Given the description of an element on the screen output the (x, y) to click on. 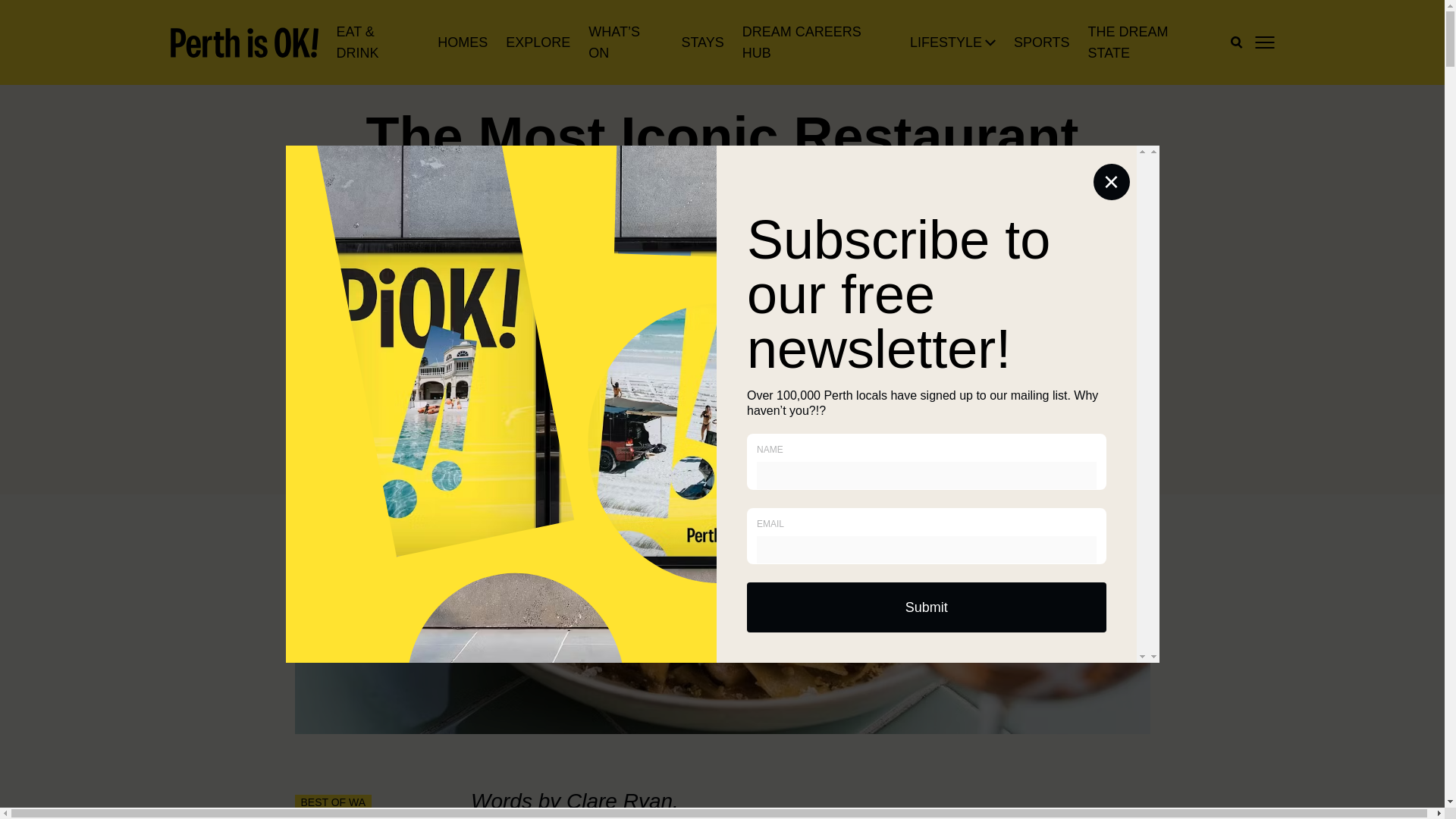
Submit (926, 607)
HOMES (462, 42)
DREAM CAREERS HUB (816, 42)
SPORTS (1041, 42)
EXPLORE (537, 42)
STAYS (702, 42)
THE DREAM STATE (1149, 42)
BEST OF WA (332, 801)
Submit (926, 607)
LIFESTYLE (945, 42)
